Given the description of an element on the screen output the (x, y) to click on. 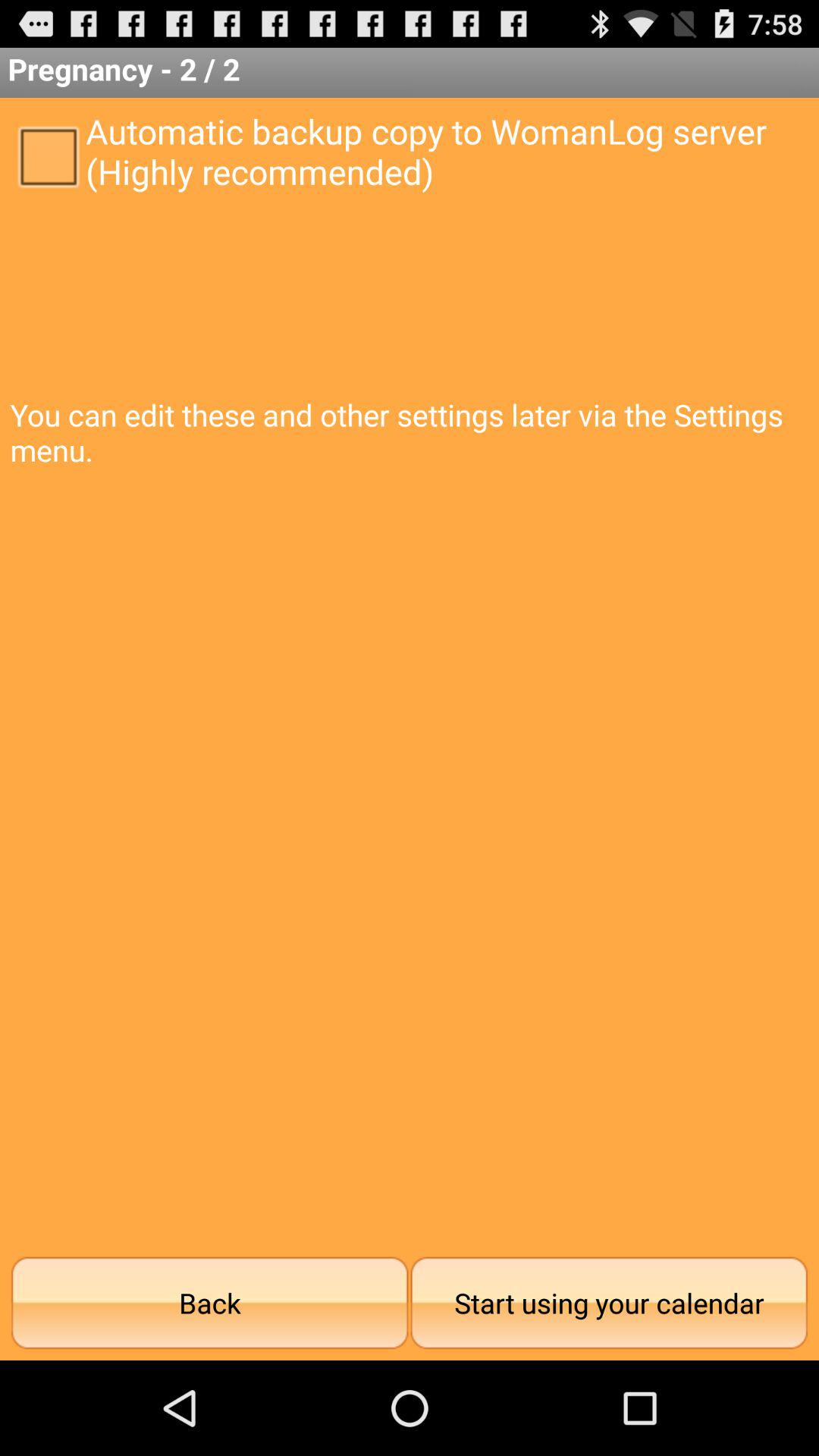
choose icon next to the back item (608, 1302)
